Given the description of an element on the screen output the (x, y) to click on. 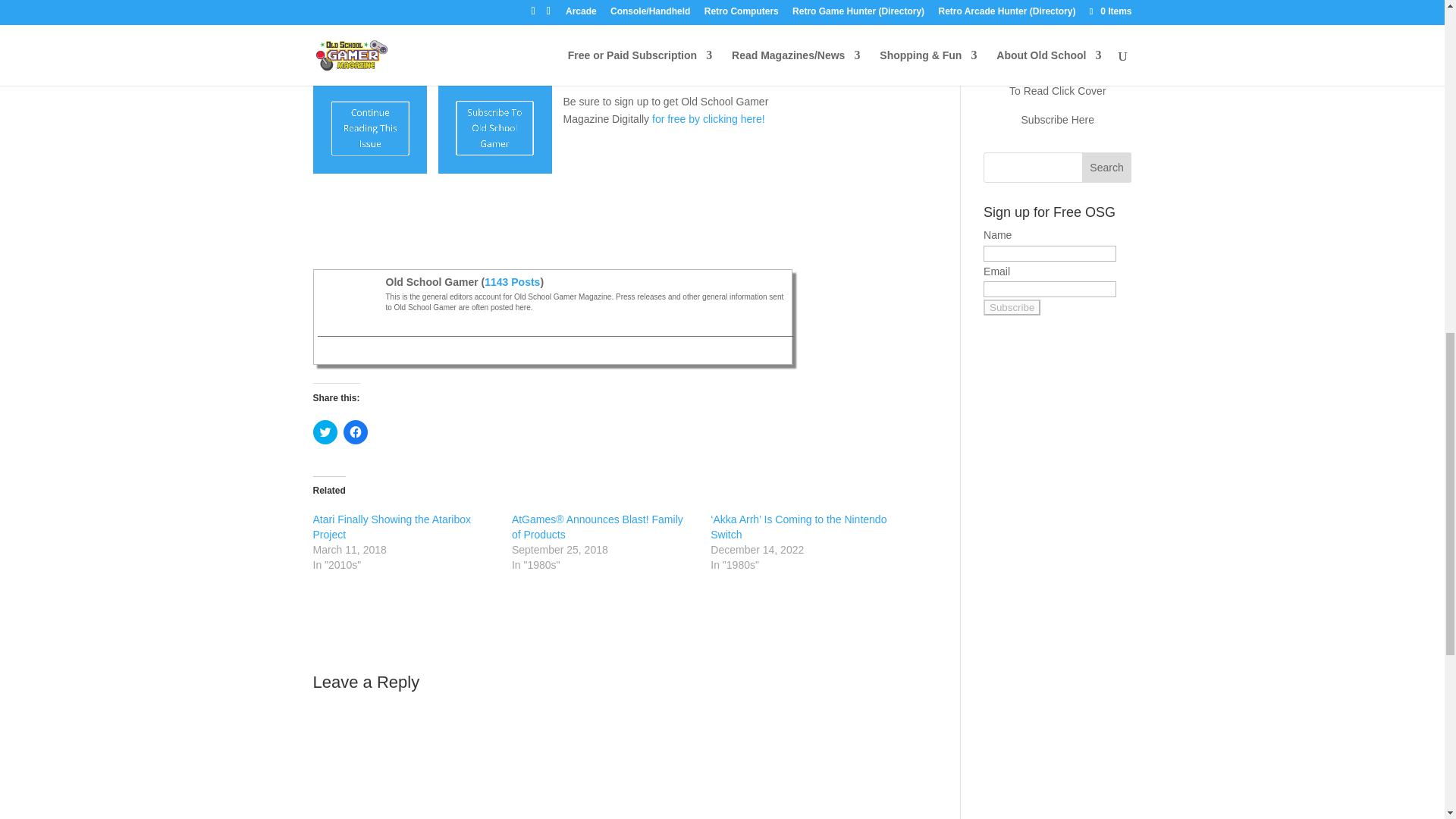
Atari Finally Showing the Ataribox Project (391, 526)
Comment Form (614, 758)
Click to share on Facebook (354, 432)
Click to share on Twitter (324, 432)
Page 22 (614, 97)
Search (1106, 167)
Subscribe (1012, 307)
